Given the description of an element on the screen output the (x, y) to click on. 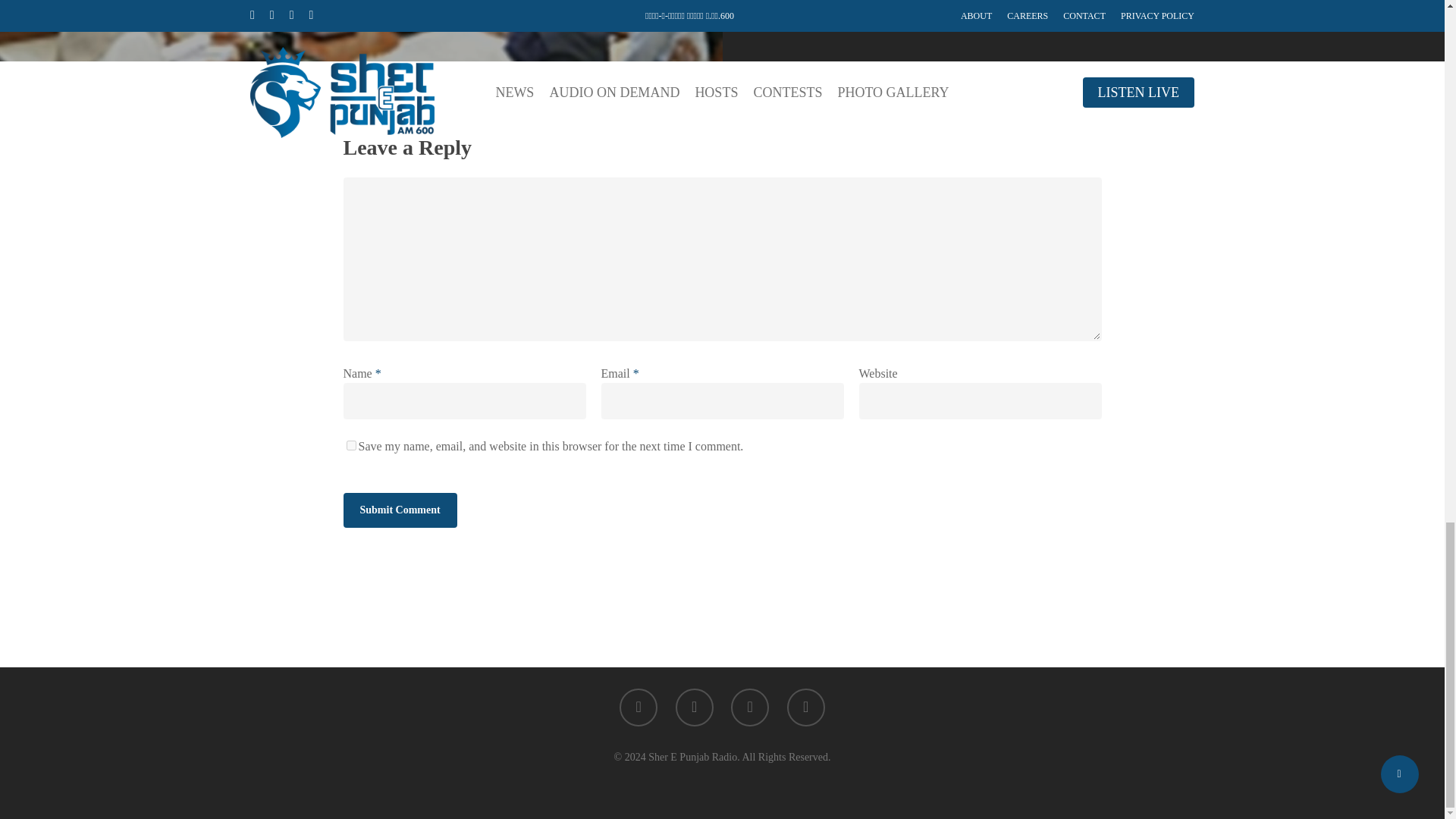
yes (350, 445)
Submit Comment (399, 510)
Submit Comment (399, 510)
